Given the description of an element on the screen output the (x, y) to click on. 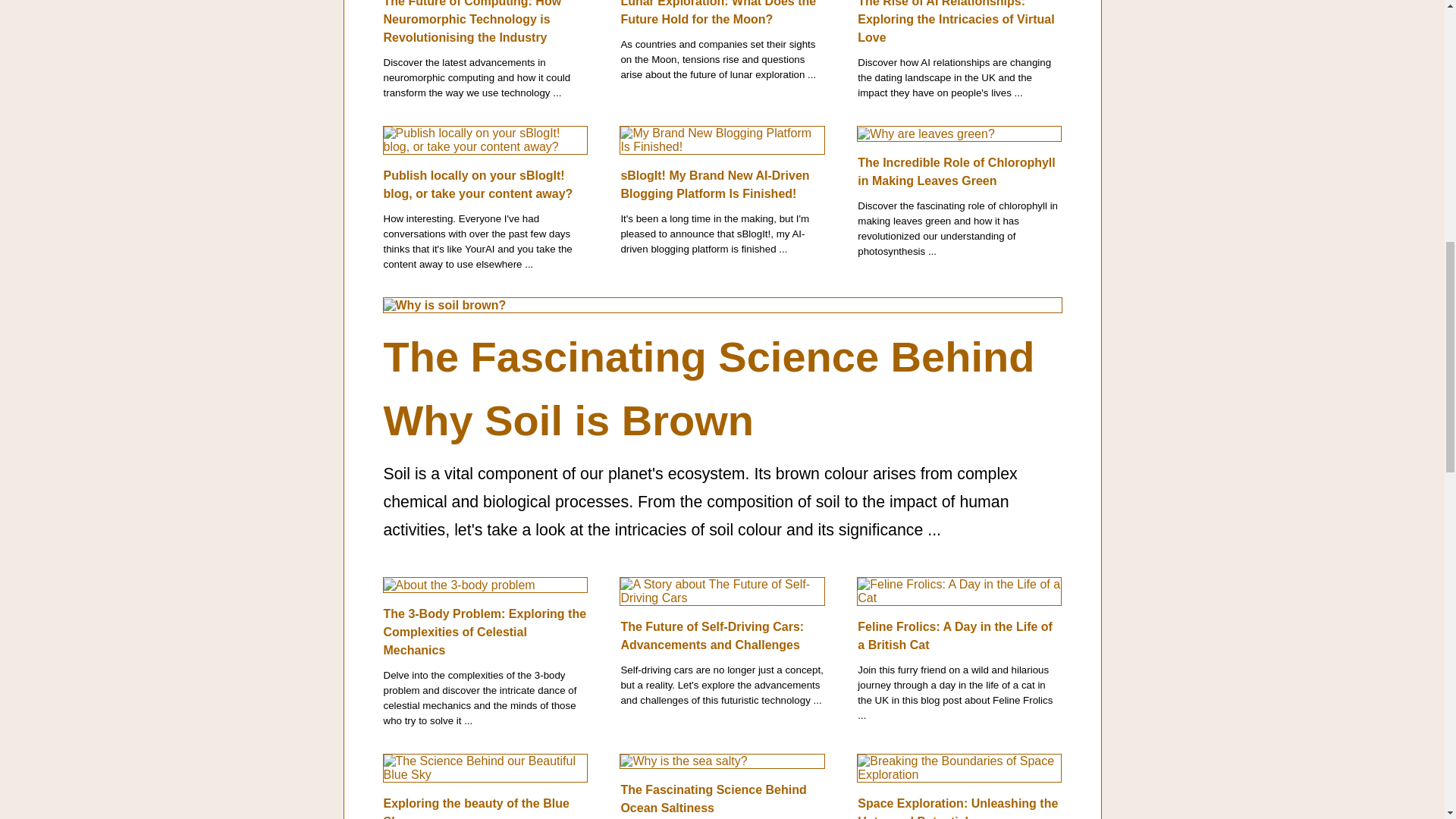
Space Exploration: Unleashing the Untapped Potential (957, 807)
The Fascinating Science Behind Ocean Saltiness (713, 798)
Click here to view this blog post (955, 22)
Feline Frolics: A Day in the Life of a British Cat (954, 635)
Click here to view this blog post (717, 12)
Exploring the beauty of the Blue Sky (476, 807)
Lunar Exploration: What Does the Future Hold for the Moon? (717, 12)
